Given the description of an element on the screen output the (x, y) to click on. 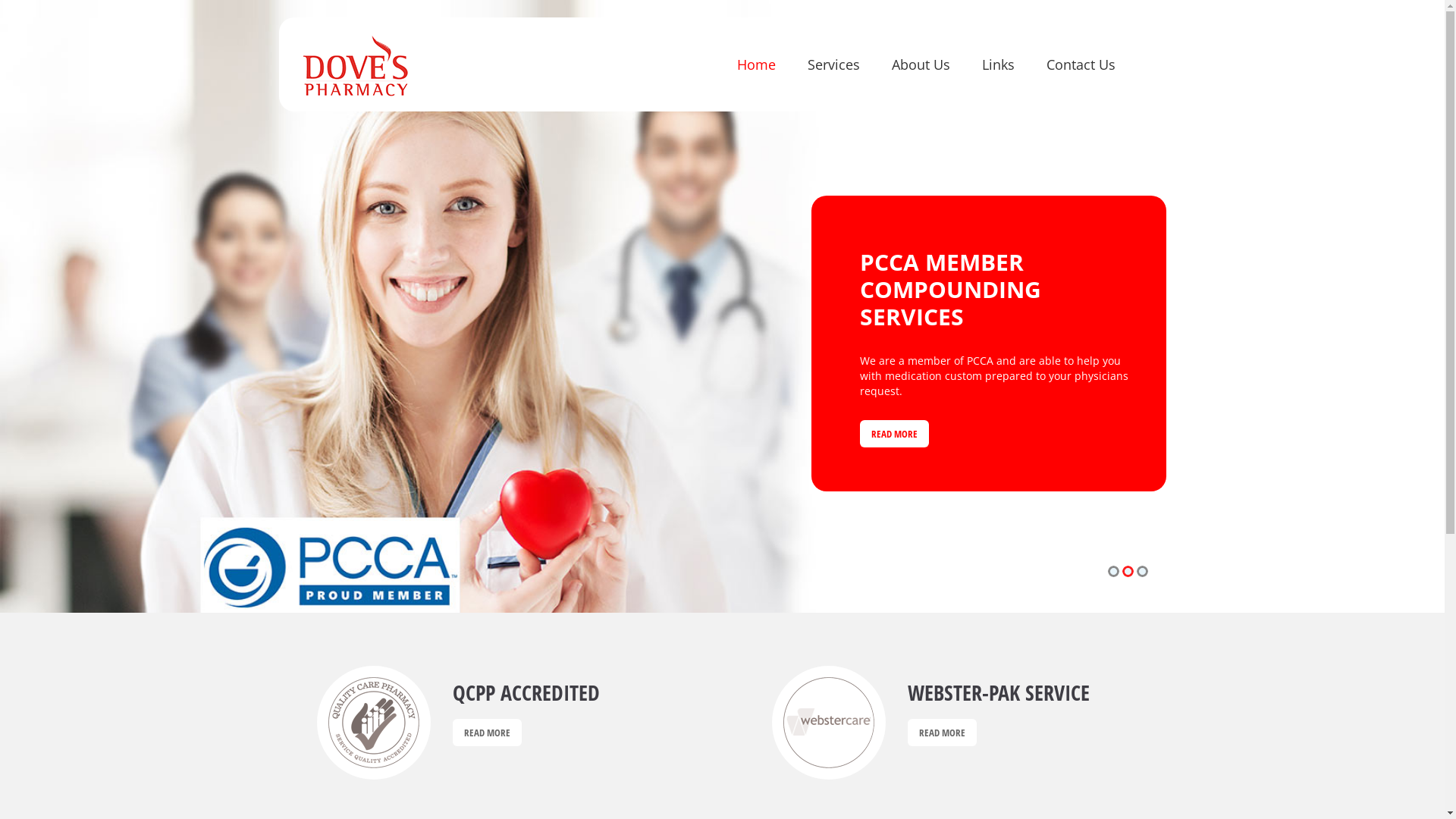
READ MORE Element type: text (940, 732)
Home Element type: text (756, 64)
READ MORE Element type: text (893, 421)
About Us Element type: text (920, 64)
Services Element type: text (832, 64)
READ MORE Element type: text (485, 732)
Links Element type: text (997, 64)
Contact Us Element type: text (1080, 64)
